Given the description of an element on the screen output the (x, y) to click on. 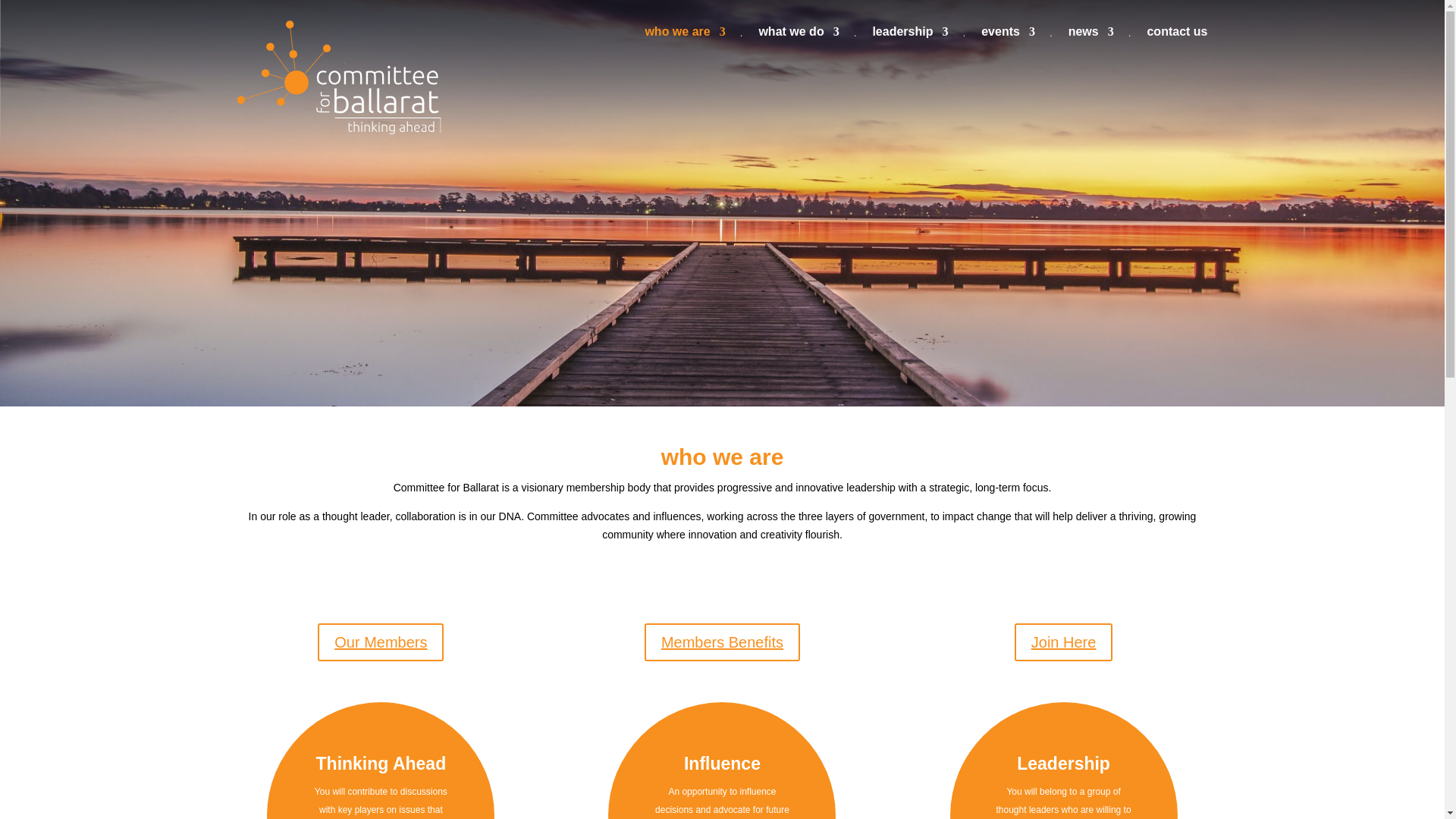
leadership (909, 37)
contact us (1177, 37)
who we are (685, 37)
news (1090, 37)
what we do (798, 37)
events (1008, 37)
